Given the description of an element on the screen output the (x, y) to click on. 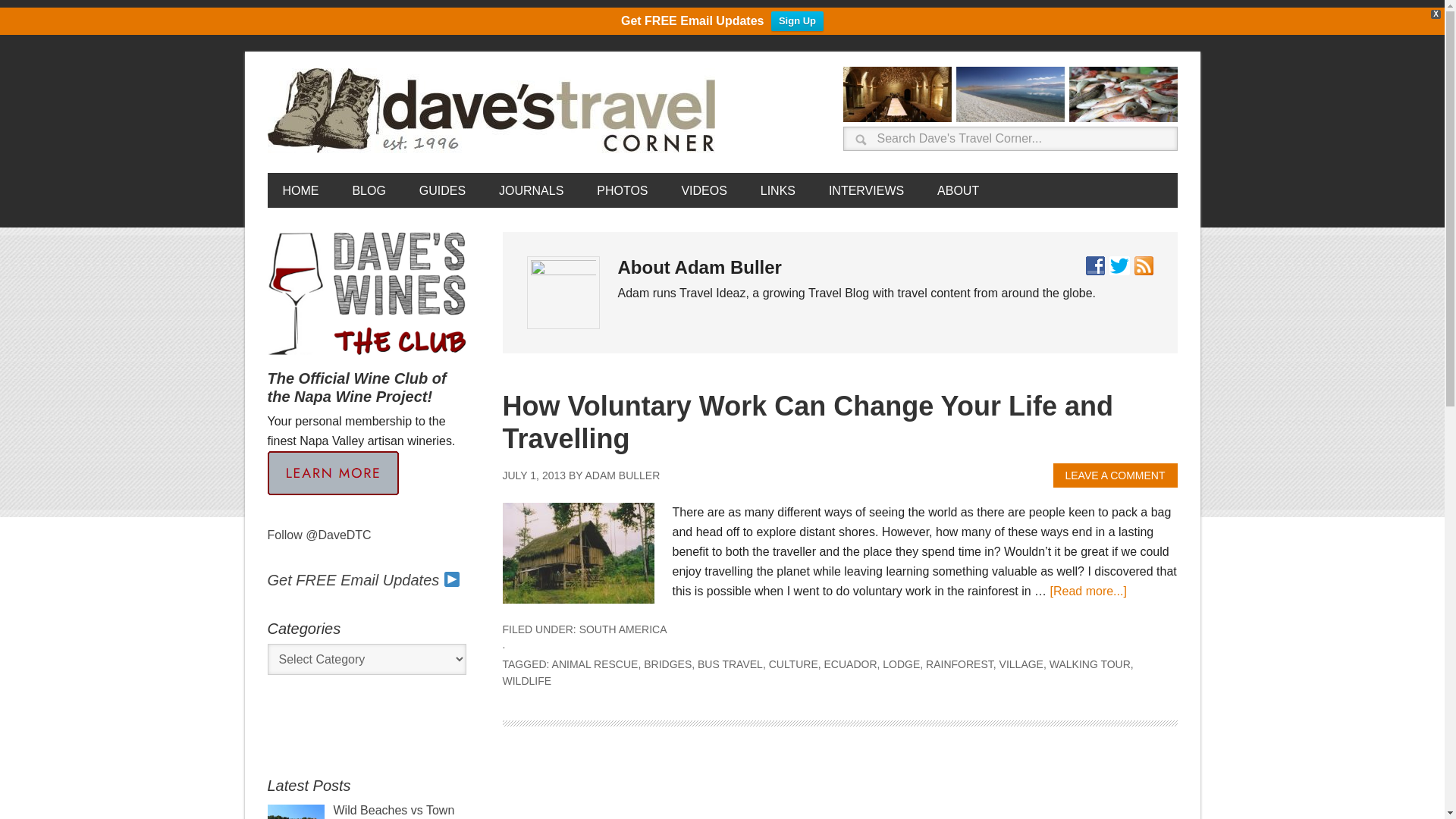
GUIDES (442, 190)
Sign Up (797, 21)
VIDEOS (703, 190)
How Voluntary Work Can Change Your Life and Travelling (807, 422)
PHOTOS (621, 190)
WILDLIFE (526, 680)
JOURNALS (530, 190)
ECUADOR (850, 664)
RAINFOREST (959, 664)
HOME (299, 190)
INTERVIEWS (865, 190)
BUS TRAVEL (729, 664)
DAVE'S TRAVEL CORNER (494, 110)
